Given the description of an element on the screen output the (x, y) to click on. 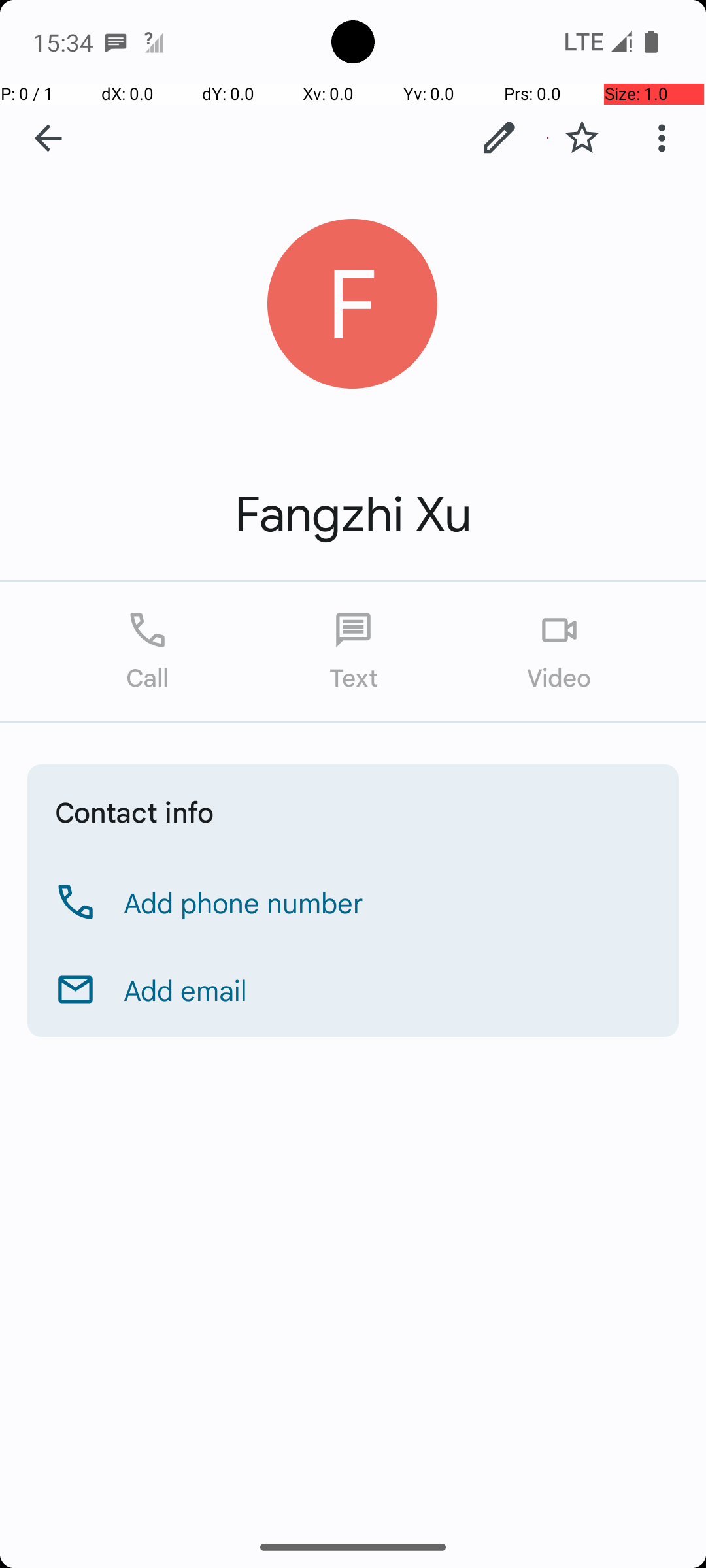
Edit contact Element type: android.widget.Button (498, 137)
Add to favorites Element type: android.widget.Button (581, 137)
Contact photo Element type: android.widget.ImageView (352, 303)
Text Element type: android.widget.TextView (353, 651)
Fangzhi Xu Element type: android.widget.TextView (352, 514)
Contact info Element type: android.widget.TextView (134, 811)
Add phone number Element type: android.widget.TextView (243, 901)
Add email Element type: android.widget.TextView (185, 989)
